Given the description of an element on the screen output the (x, y) to click on. 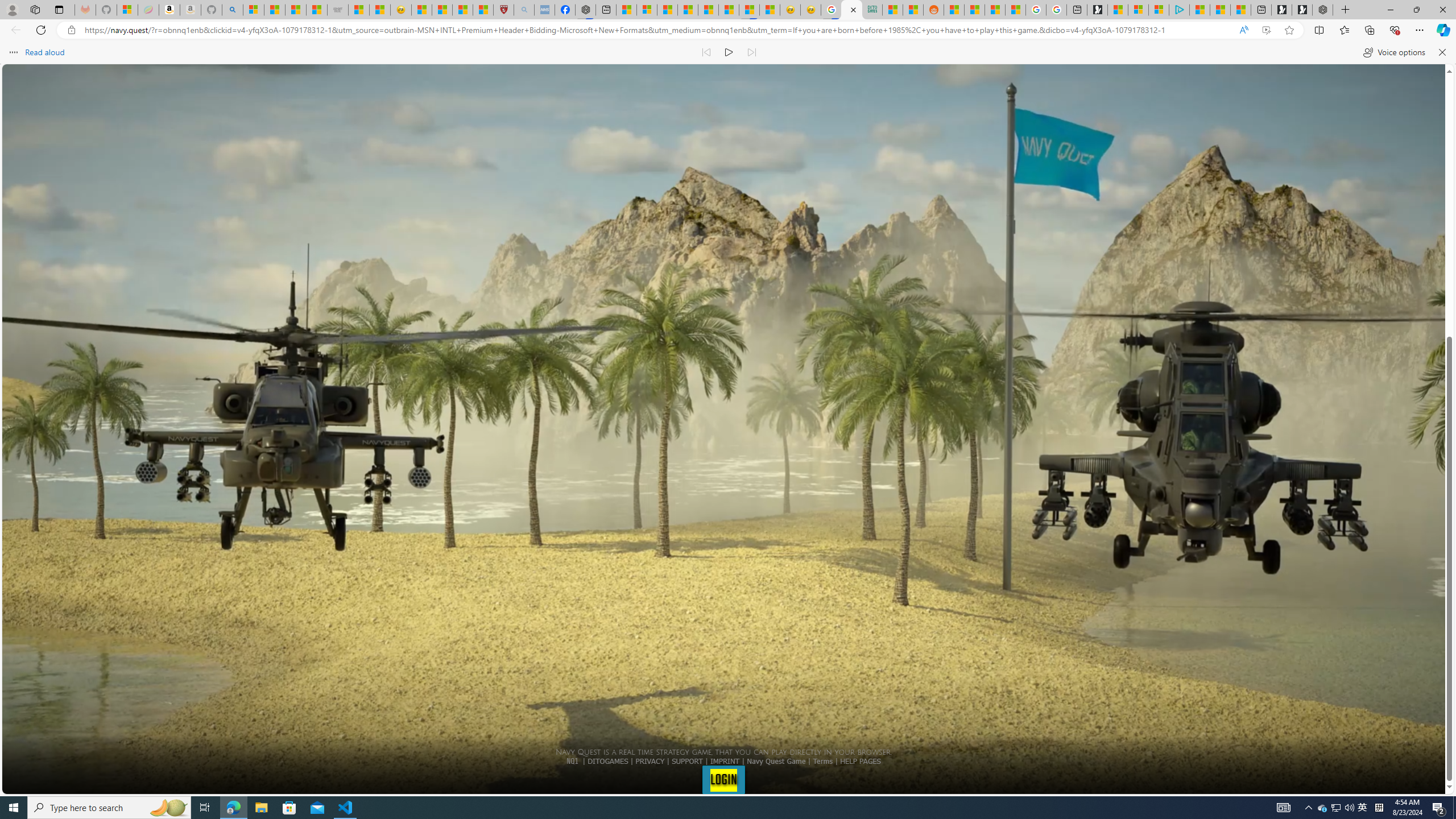
Voice options (1393, 52)
